Given the description of an element on the screen output the (x, y) to click on. 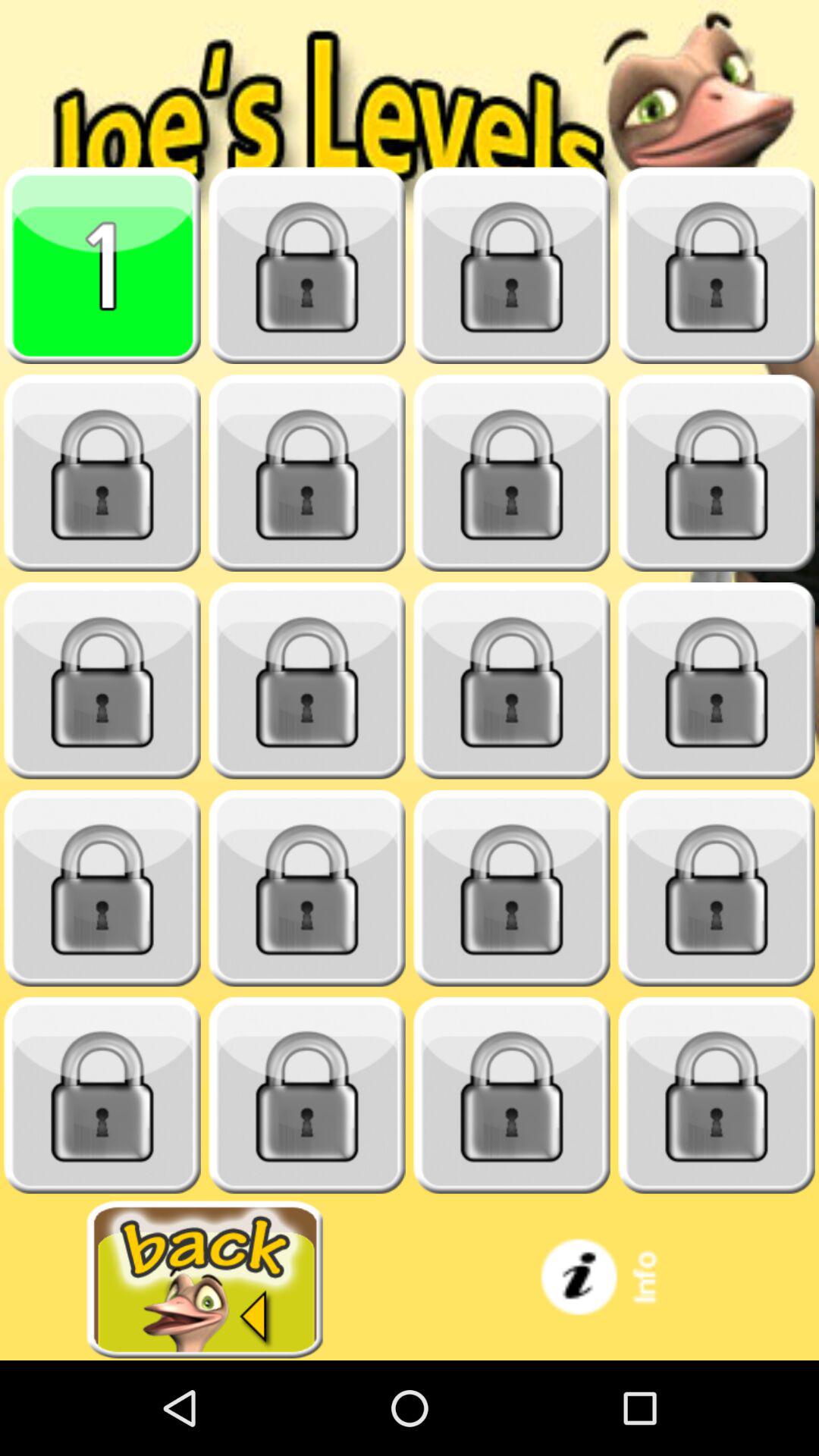
unlock level (102, 1094)
